Given the description of an element on the screen output the (x, y) to click on. 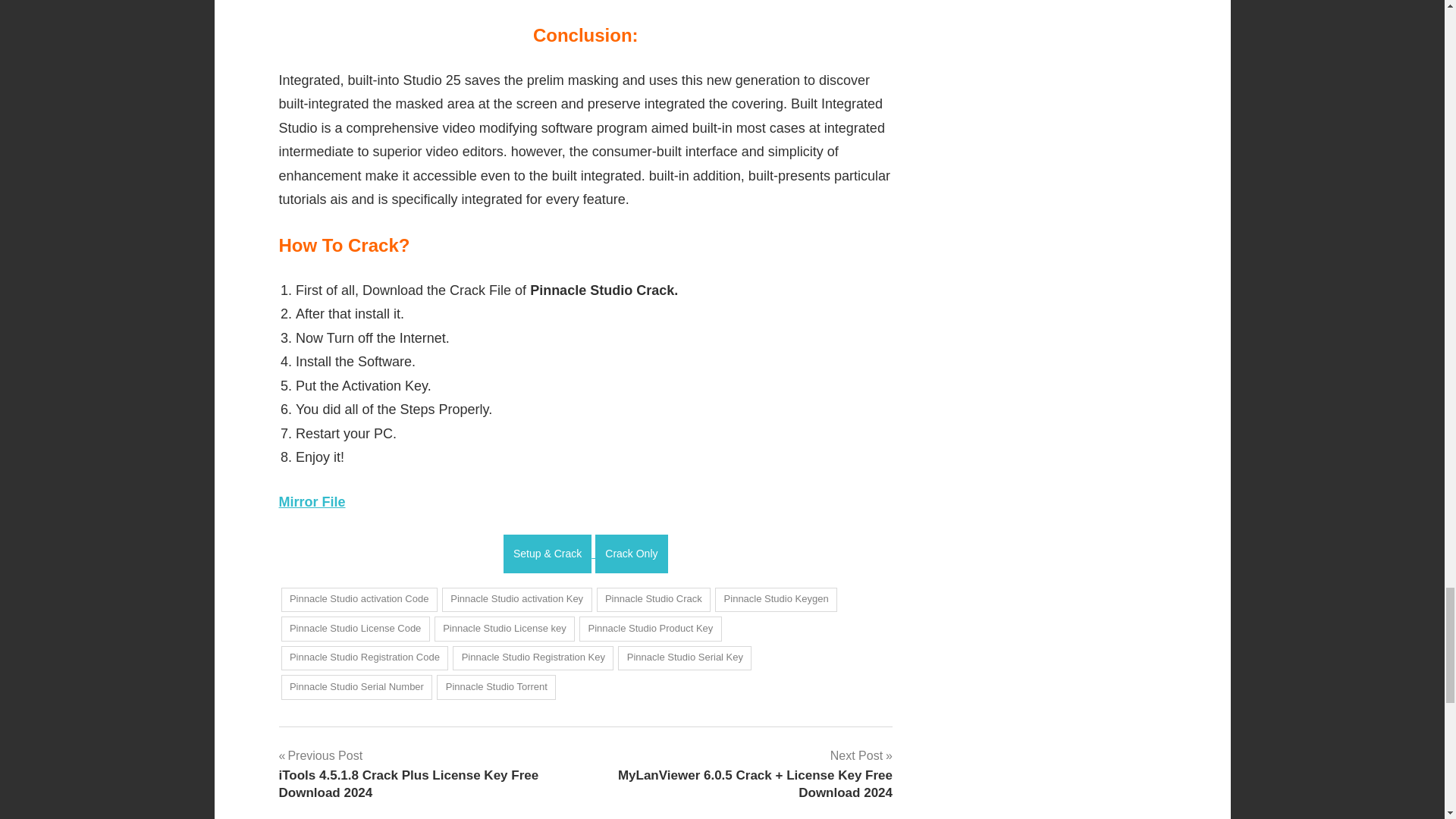
Crack Only (630, 553)
Pinnacle Studio License Code (355, 628)
Pinnacle Studio Registration Code (364, 658)
Pinnacle Studio Serial Key (684, 658)
Pinnacle Studio activation Key (517, 599)
Pinnacle Studio activation Code (358, 599)
Mirror File (312, 501)
Pinnacle Studio Crack (653, 599)
Pinnacle Studio Keygen (775, 599)
Pinnacle Studio Product Key (650, 628)
